Given the description of an element on the screen output the (x, y) to click on. 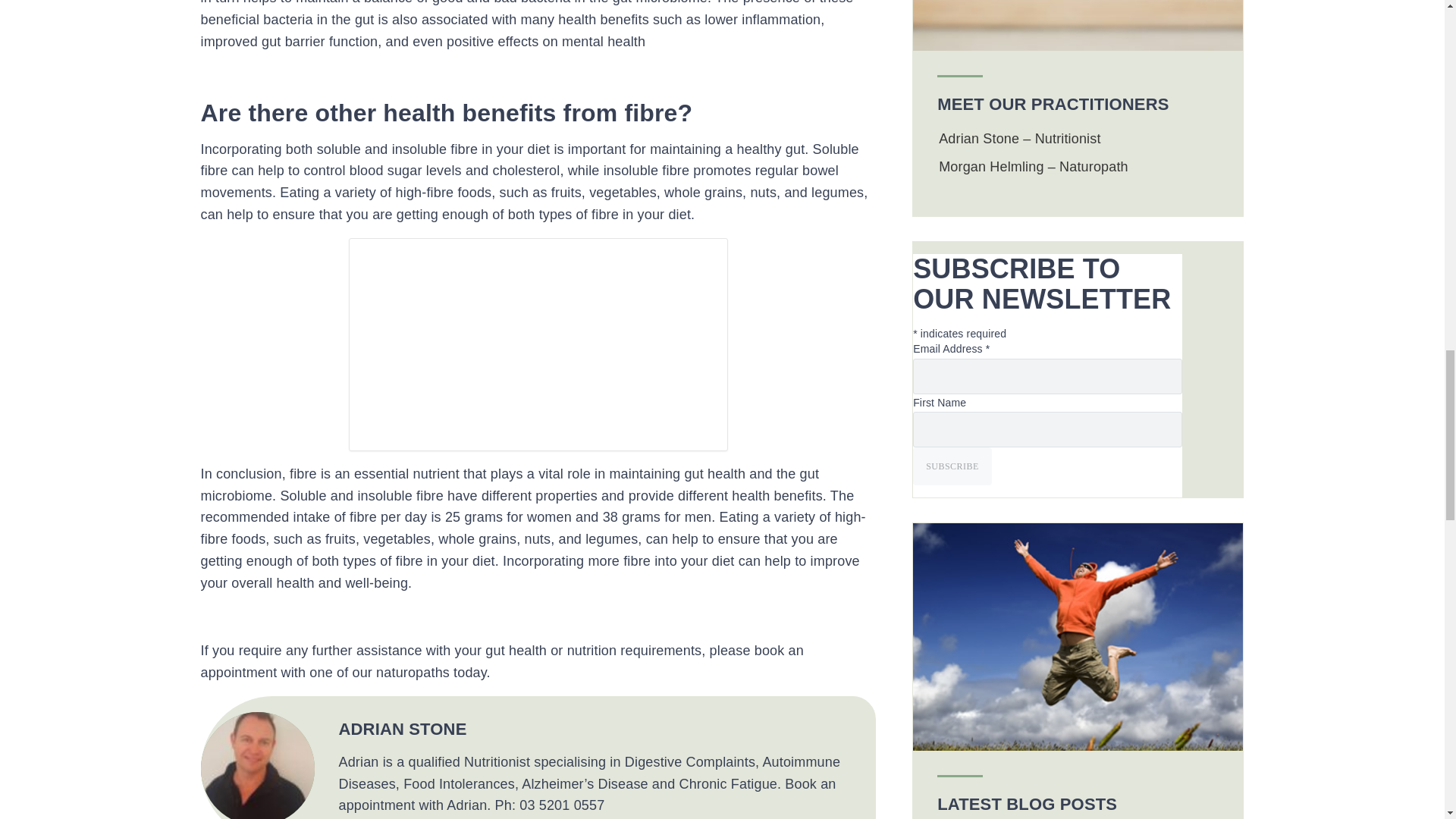
What is the difference between soluble and in soluble fibre? (538, 344)
Subscribe (951, 466)
